Given the description of an element on the screen output the (x, y) to click on. 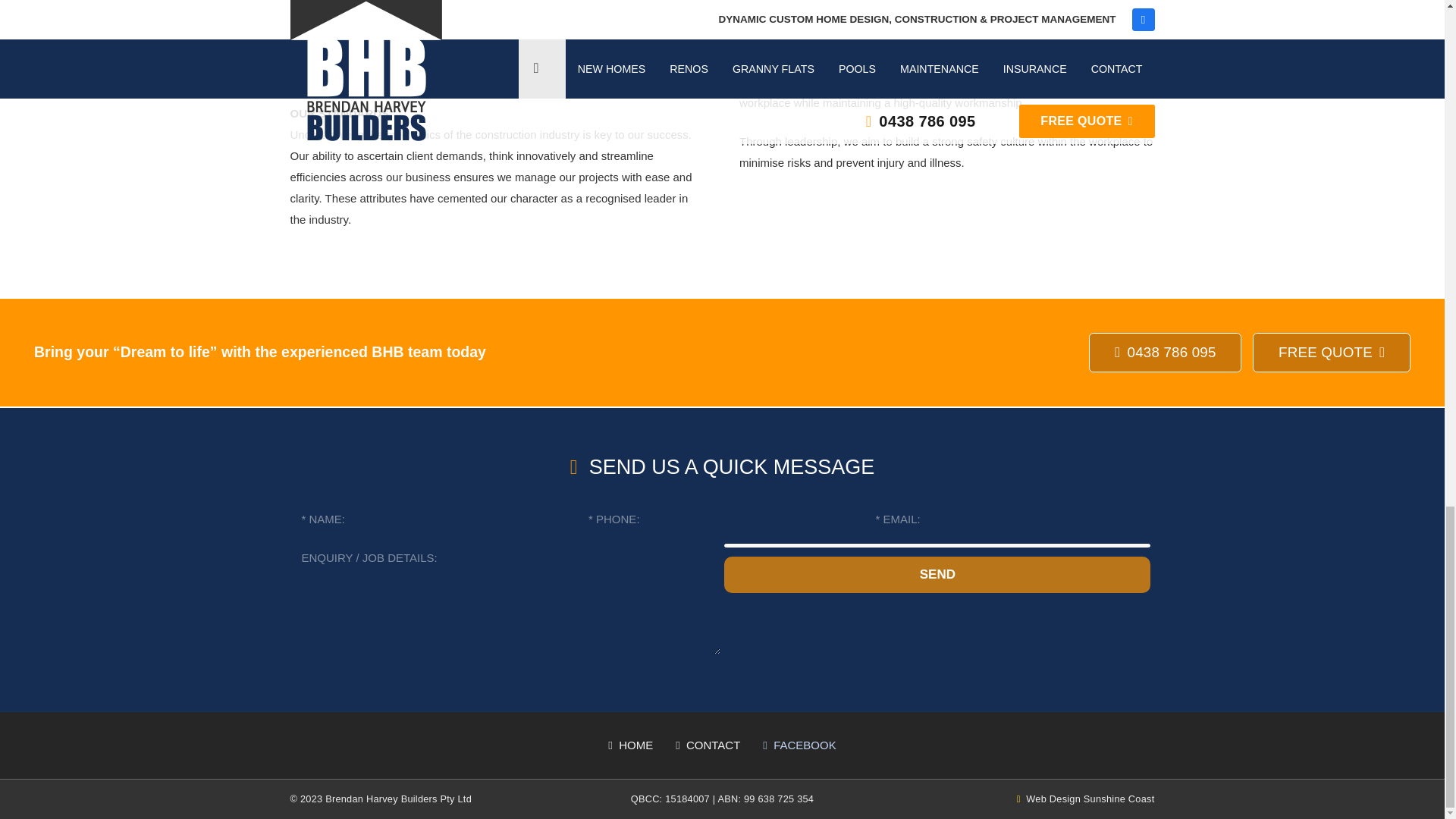
Actual Marketing Website Design Sunshine Coast (1085, 798)
FREE QUOTE (1331, 352)
Send (936, 574)
 Web Design Sunshine Coast (1085, 798)
Send (936, 574)
Call BHB Builders (1165, 352)
  HOME (630, 744)
 CONTACT (707, 744)
0438 786 095 (1165, 352)
 FACEBOOK (798, 744)
